Given the description of an element on the screen output the (x, y) to click on. 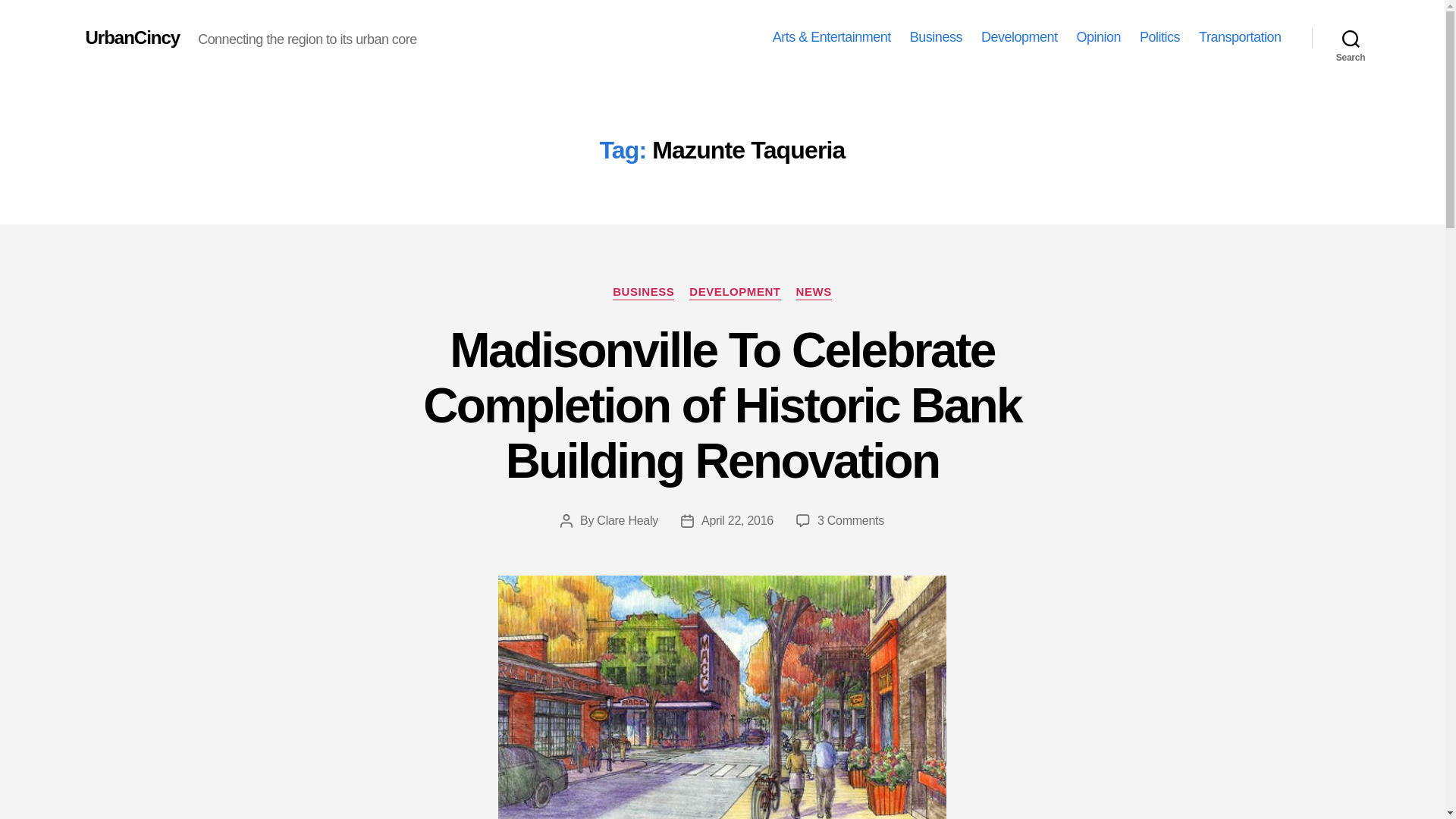
DEVELOPMENT (734, 292)
Opinion (1098, 37)
UrbanCincy (131, 37)
April 22, 2016 (737, 520)
Development (1019, 37)
Search (1350, 37)
Business (936, 37)
Transportation (1239, 37)
Politics (1159, 37)
Clare Healy (627, 520)
BUSINESS (643, 292)
NEWS (813, 292)
